Given the description of an element on the screen output the (x, y) to click on. 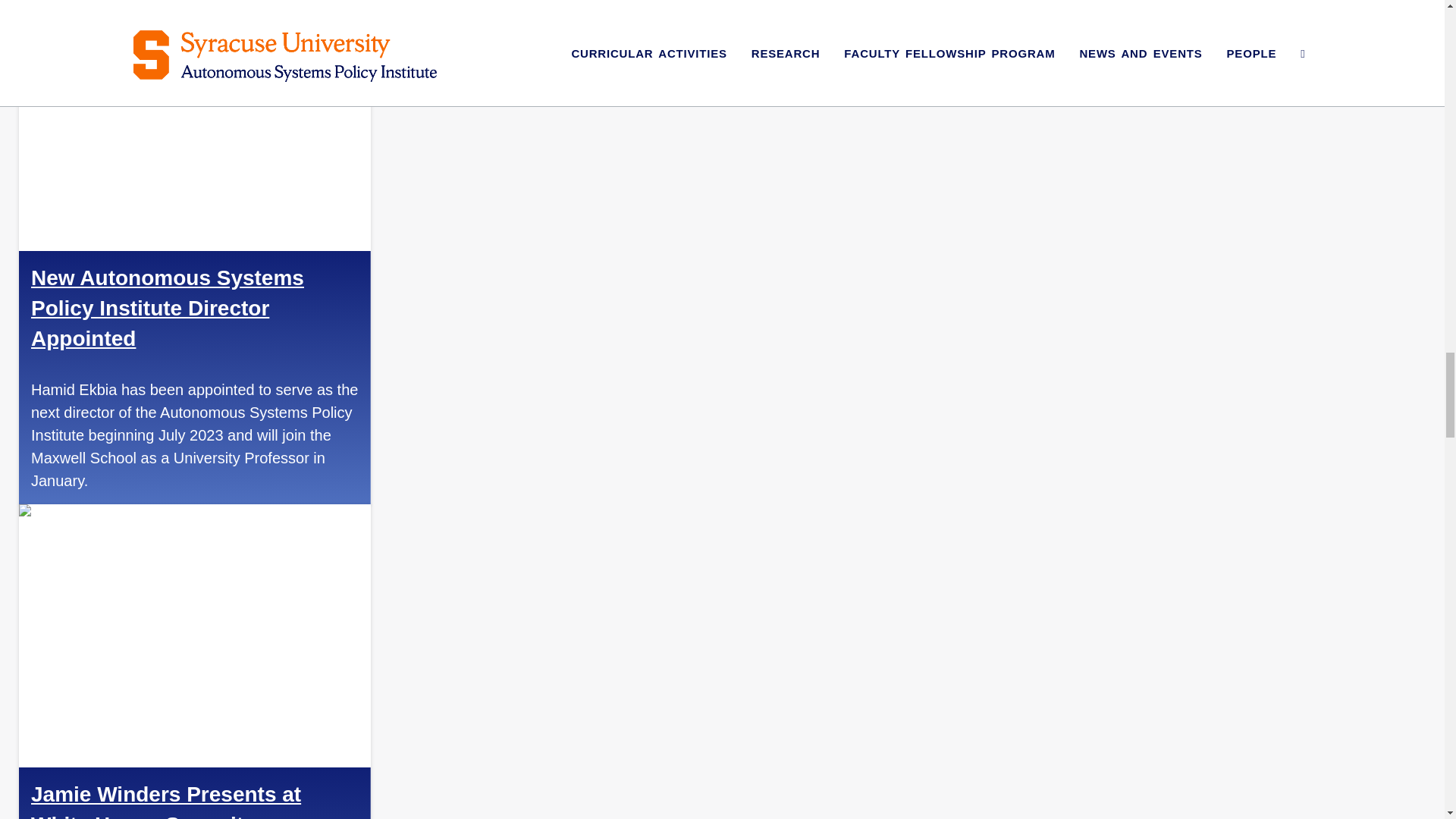
New Autonomous Systems Policy Institute Director Appointed (167, 308)
